Given the description of an element on the screen output the (x, y) to click on. 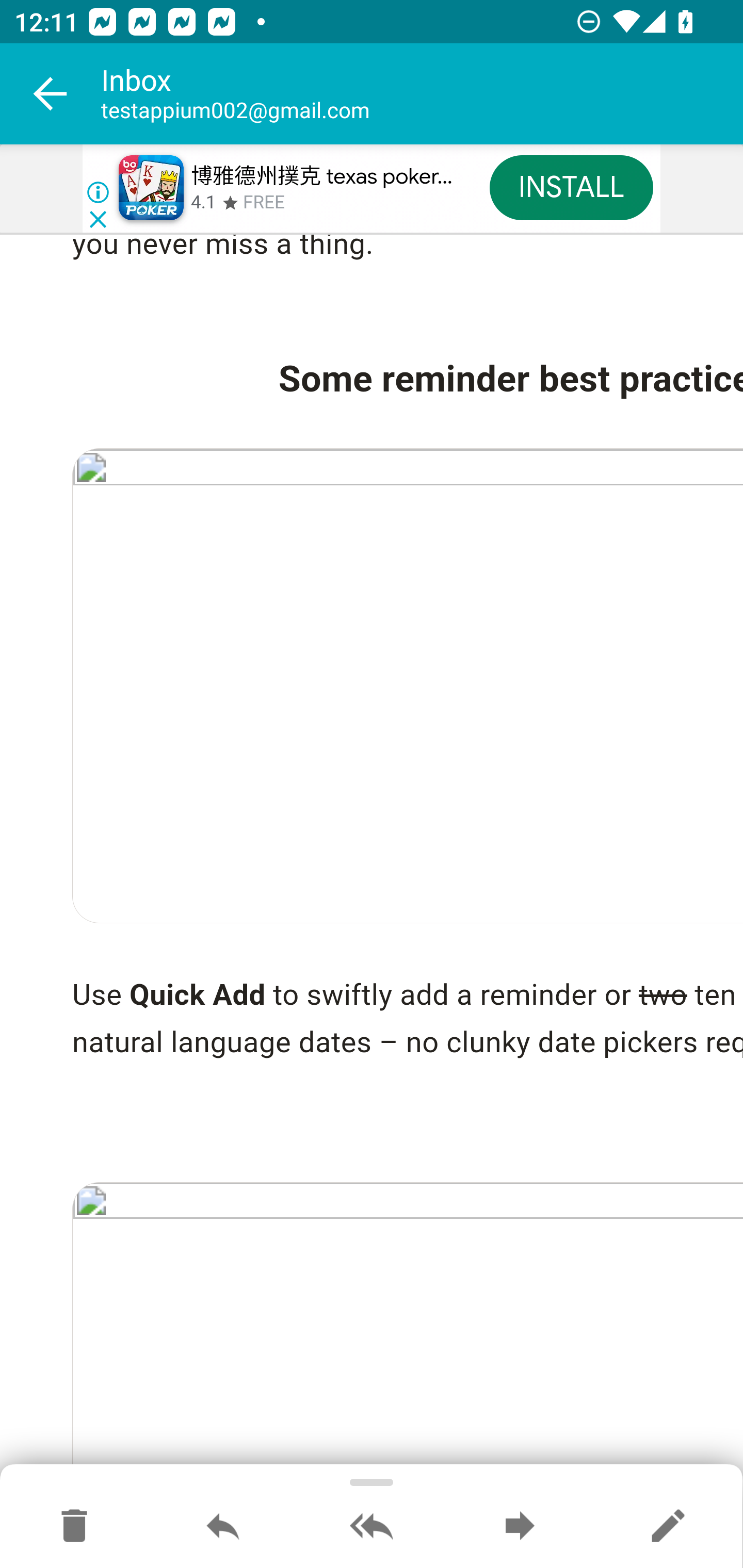
Navigate up (50, 93)
Inbox testappium002@gmail.com (422, 93)
INSTALL (570, 187)
博雅德州撲克 texas poker… (321, 177)
4.1 (203, 202)
FREE (263, 202)
Move to Deleted (74, 1527)
Reply (222, 1527)
Reply all (371, 1527)
Forward (519, 1527)
Reply as new (667, 1527)
